Given the description of an element on the screen output the (x, y) to click on. 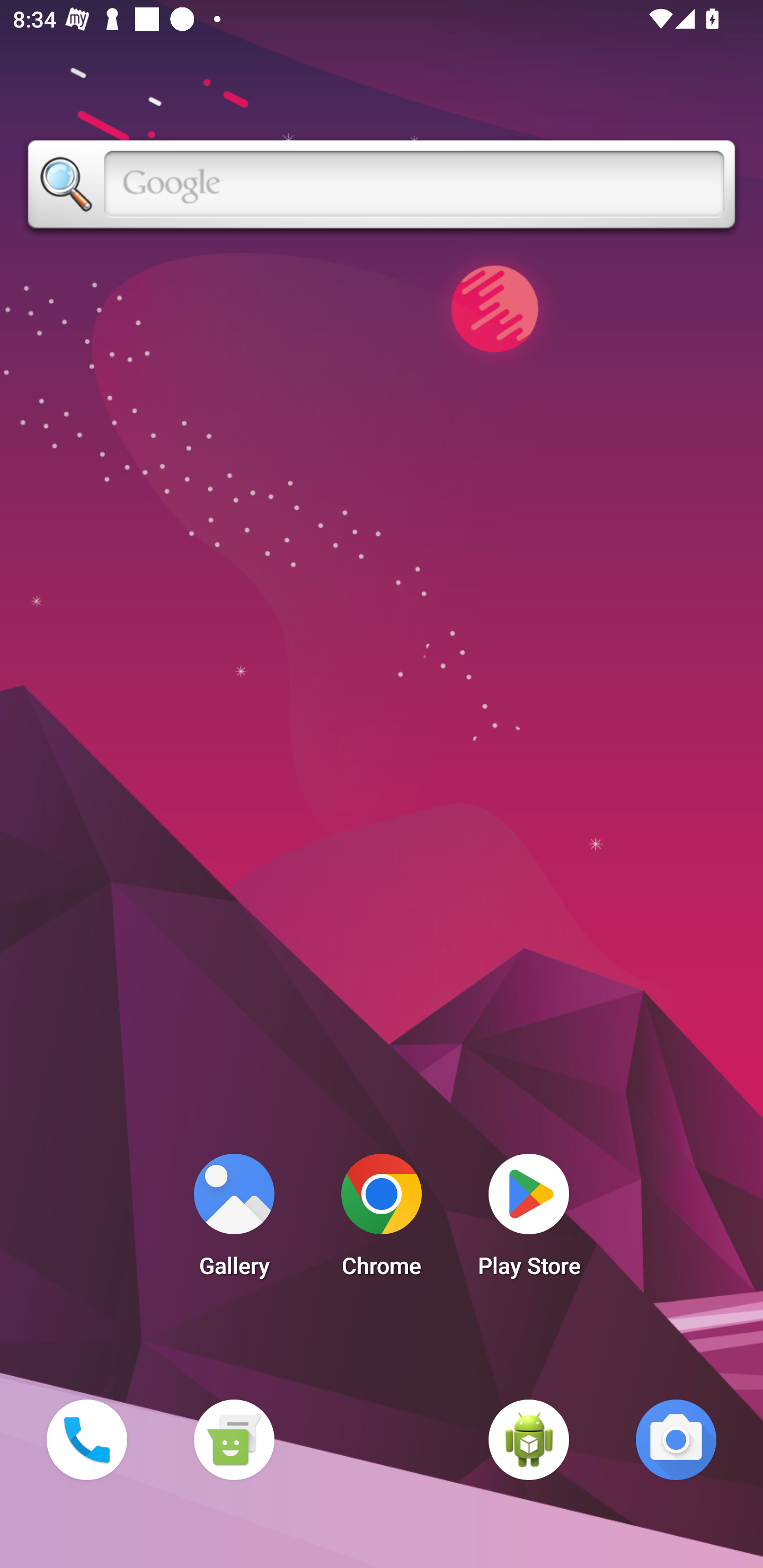
Gallery (233, 1220)
Chrome (381, 1220)
Play Store (528, 1220)
Phone (86, 1439)
Messaging (233, 1439)
WebView Browser Tester (528, 1439)
Camera (676, 1439)
